Given the description of an element on the screen output the (x, y) to click on. 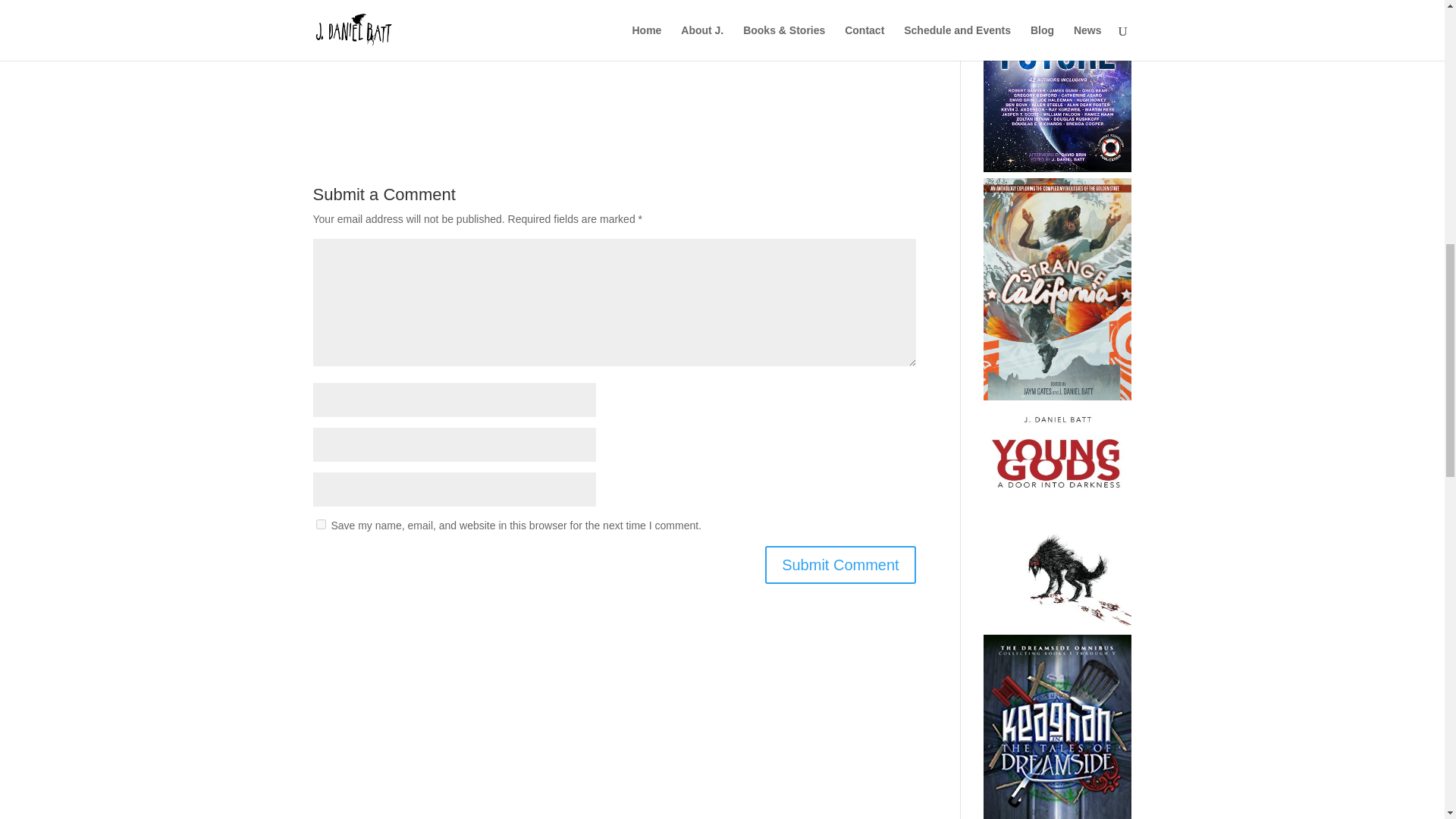
yes (319, 524)
Submit Comment (840, 564)
Submit Comment (840, 564)
